Given the description of an element on the screen output the (x, y) to click on. 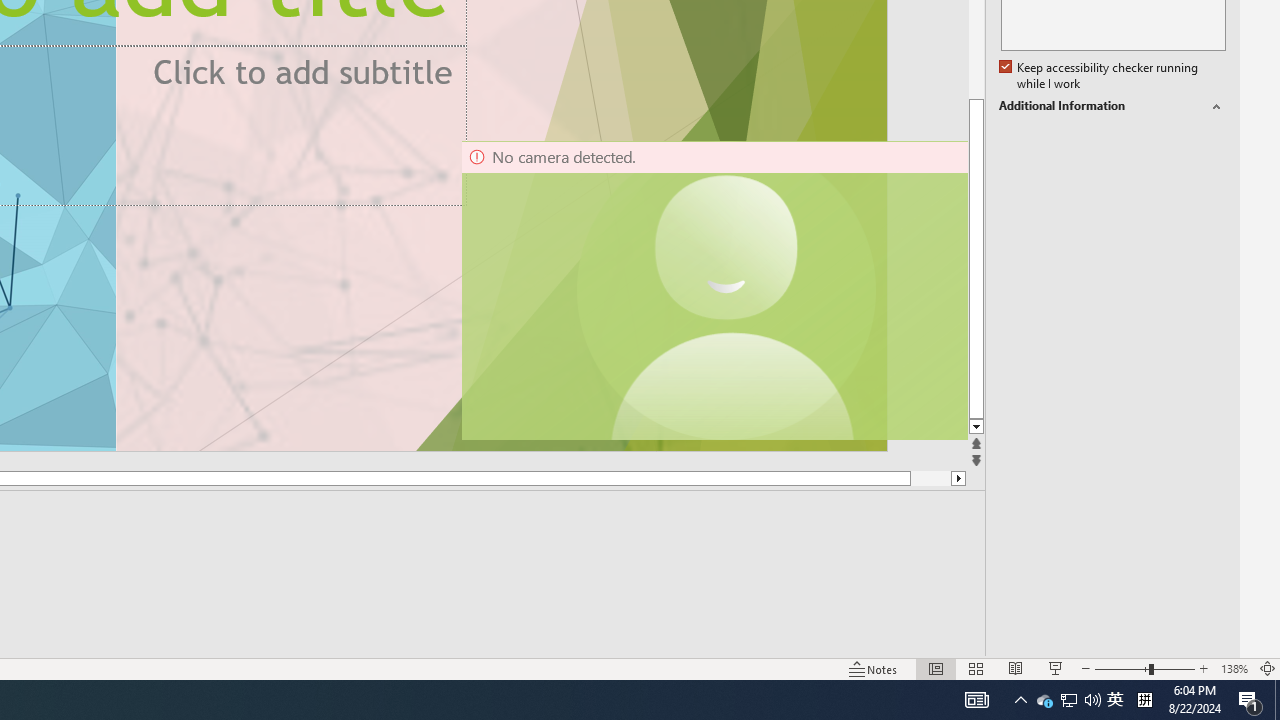
Action Center, 1 new notification (1250, 699)
Keep accessibility checker running while I work (1099, 76)
IME Mode Icon - IME is disabled (1115, 699)
Camera 14, No camera detected. (713, 290)
Additional Information (1044, 699)
